Given the description of an element on the screen output the (x, y) to click on. 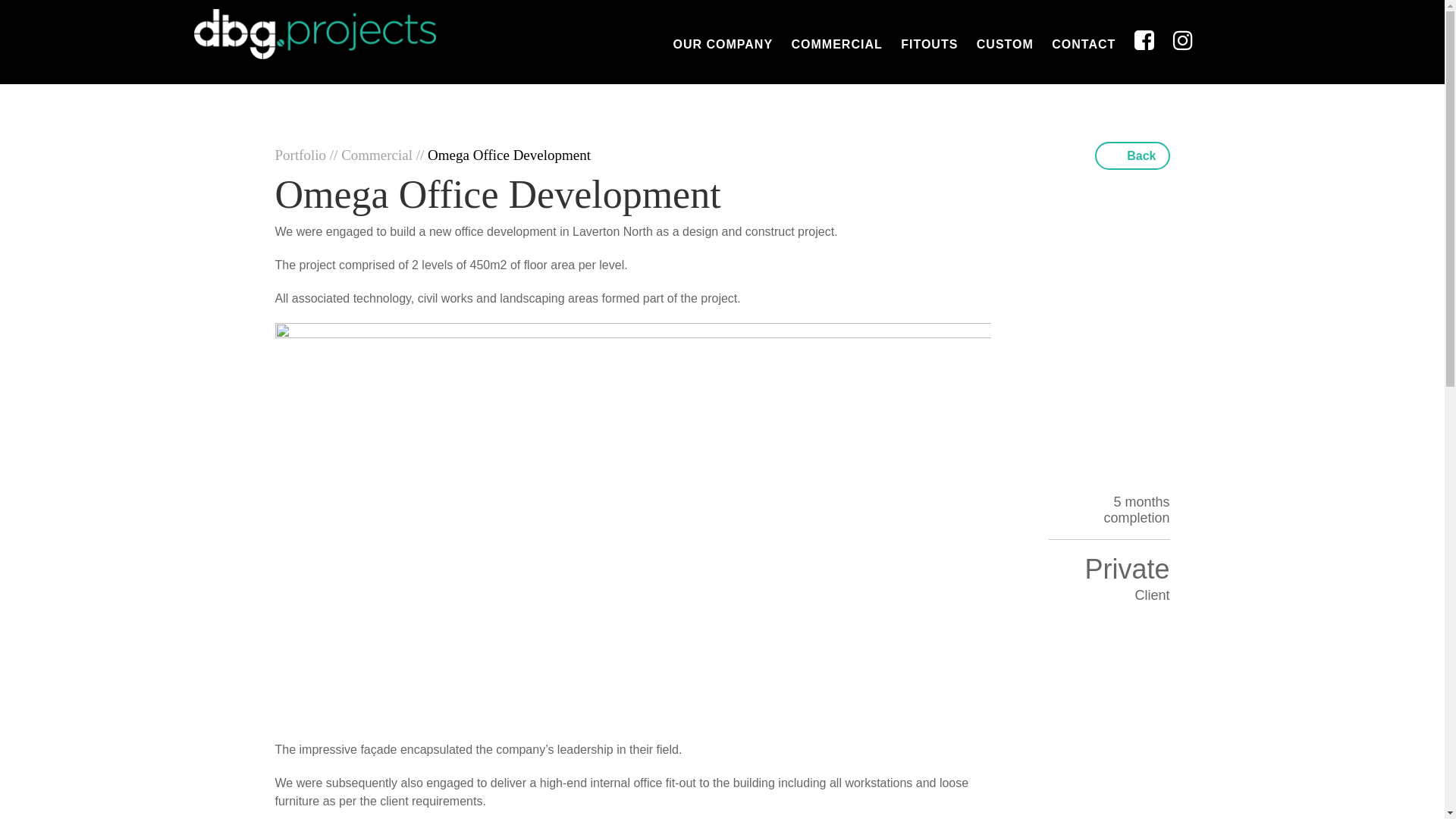
DBG PROJECTS Element type: text (313, 31)
Portfolio Element type: text (301, 155)
CUSTOM Element type: text (1005, 46)
Back Element type: text (1132, 155)
Commercial Element type: text (378, 155)
FITOUTS Element type: text (929, 46)
OUR COMPANY Element type: text (722, 46)
CONTACT Element type: text (1083, 46)
Skip to main content Element type: text (0, 0)
COMMERCIAL Element type: text (837, 46)
